Given the description of an element on the screen output the (x, y) to click on. 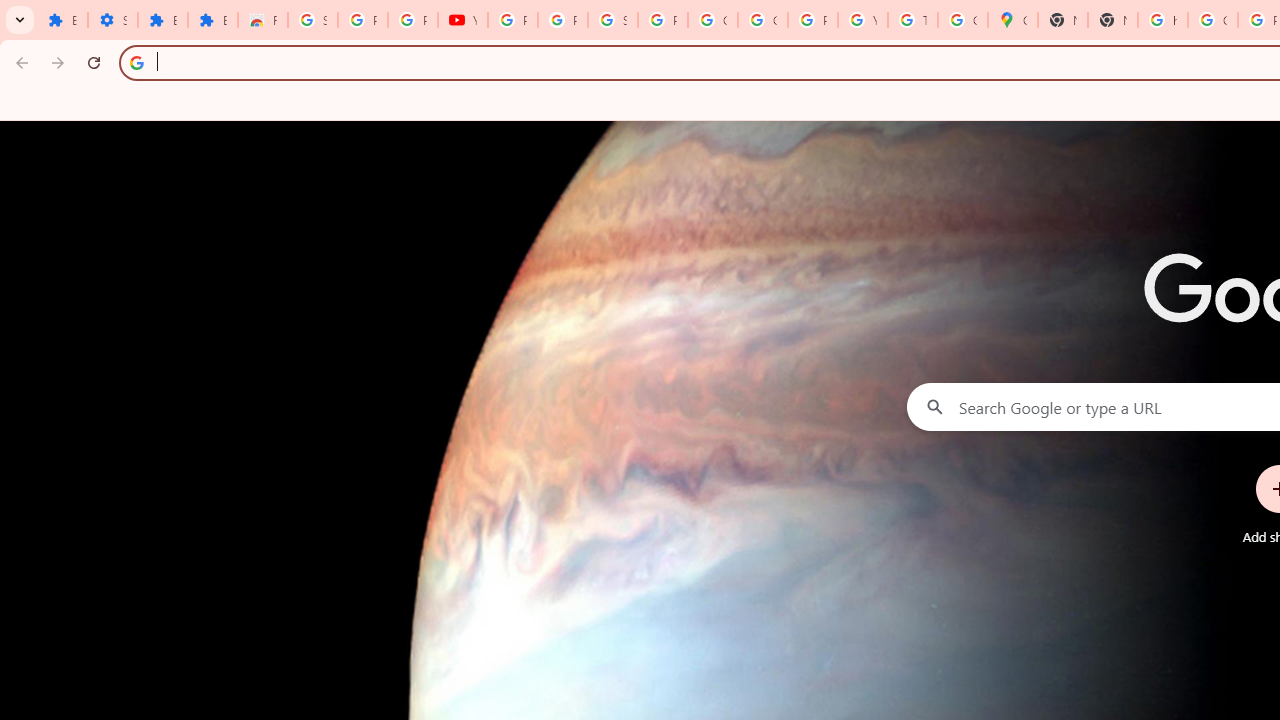
Sign in - Google Accounts (612, 20)
Search icon (136, 62)
Sign in - Google Accounts (312, 20)
Google Account (712, 20)
Settings (113, 20)
YouTube (863, 20)
Extensions (213, 20)
New Tab (1062, 20)
